Given the description of an element on the screen output the (x, y) to click on. 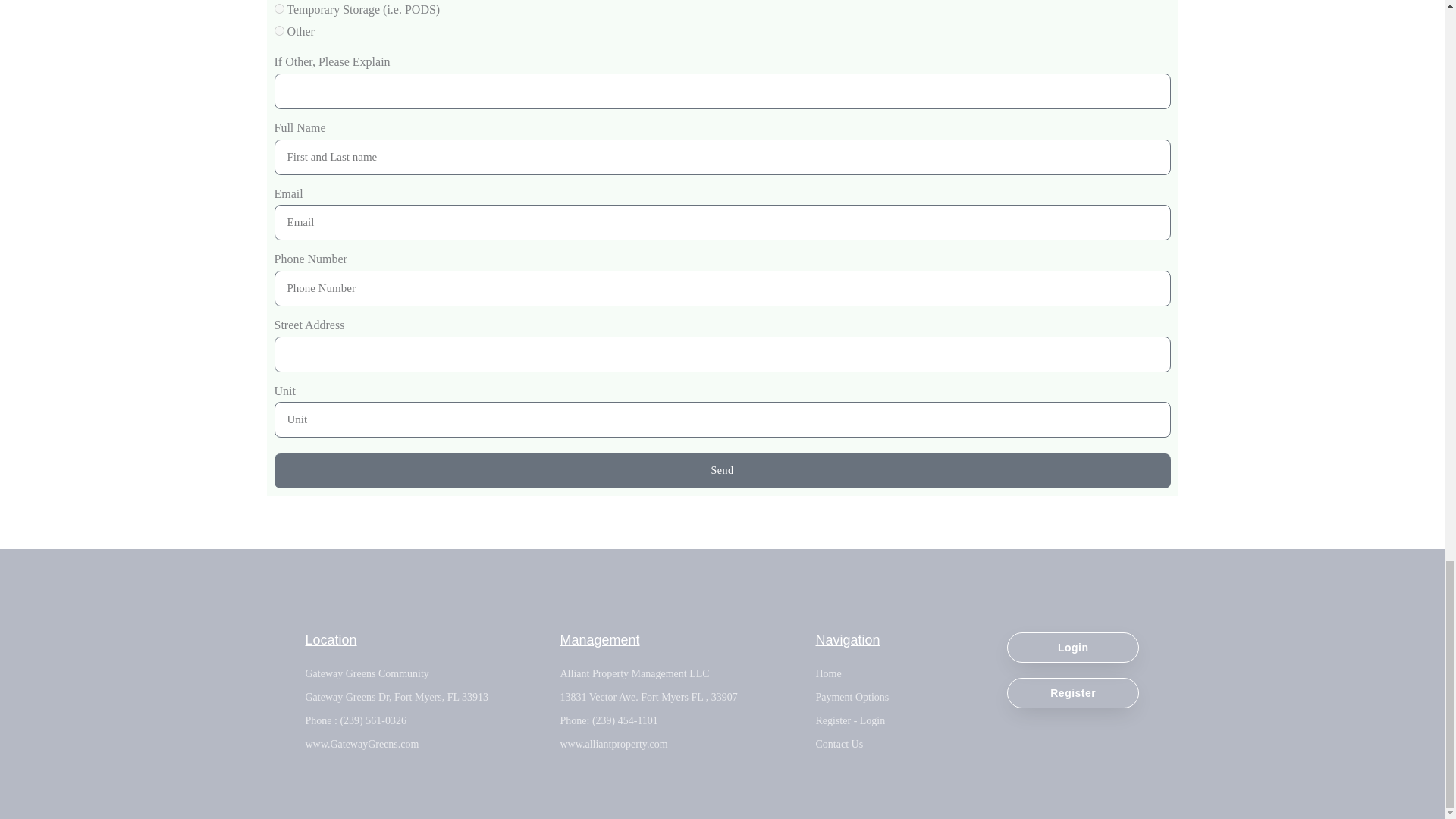
Other (279, 30)
